Given the description of an element on the screen output the (x, y) to click on. 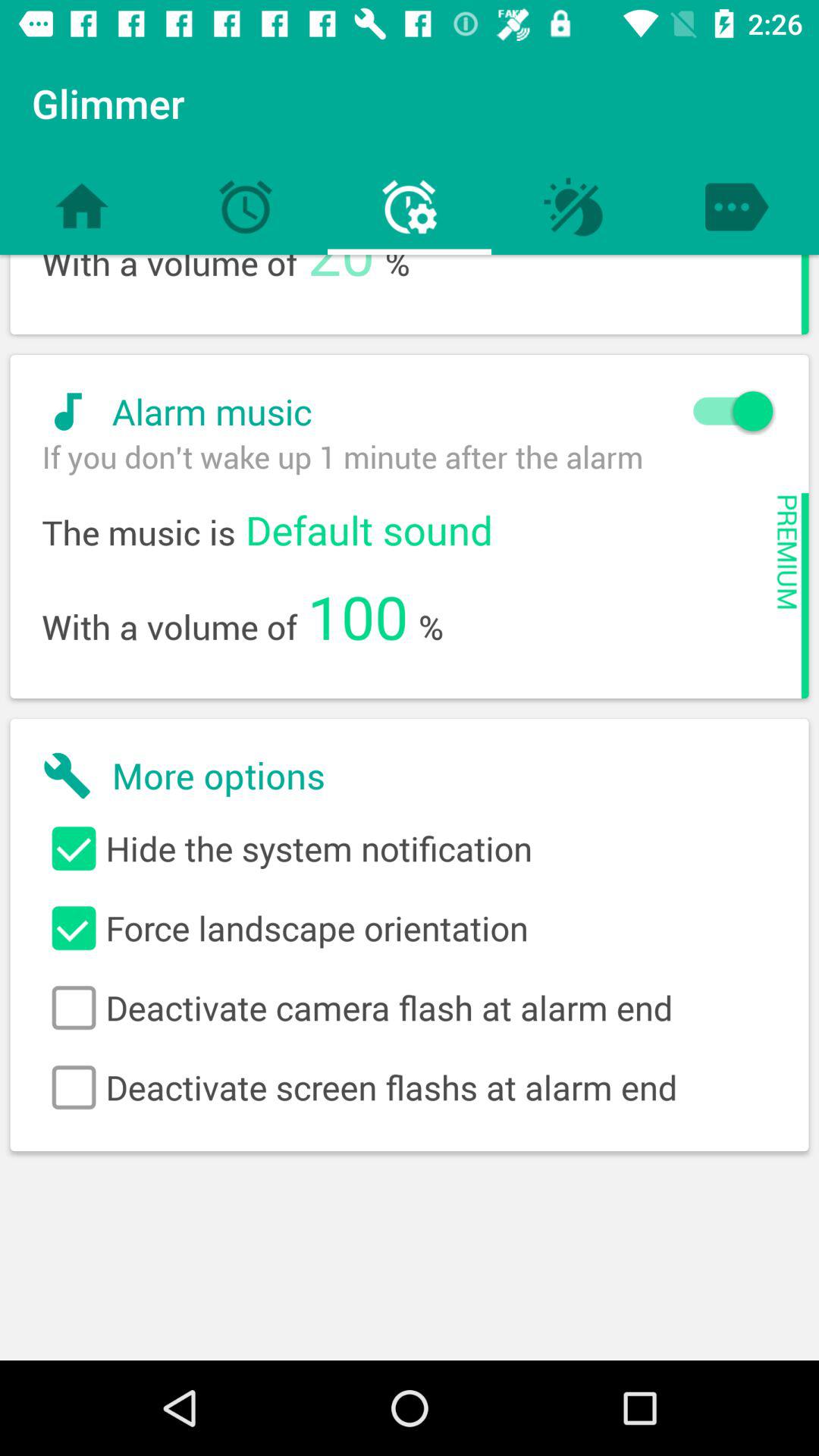
select icon below force landscape orientation item (409, 1007)
